Given the description of an element on the screen output the (x, y) to click on. 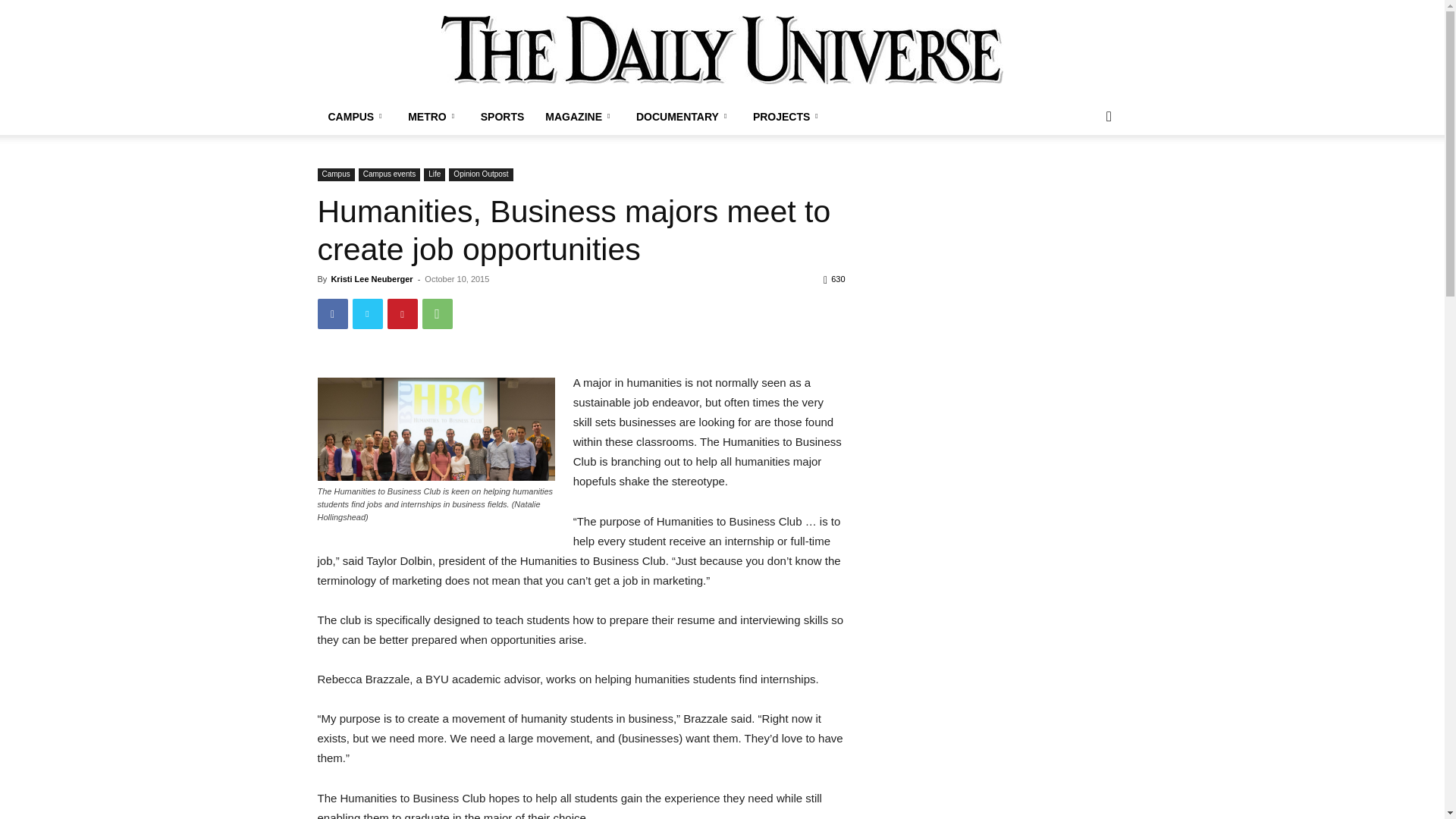
WhatsApp (436, 313)
Twitter (366, 313)
Pinterest (401, 313)
Facebook (332, 313)
